Given the description of an element on the screen output the (x, y) to click on. 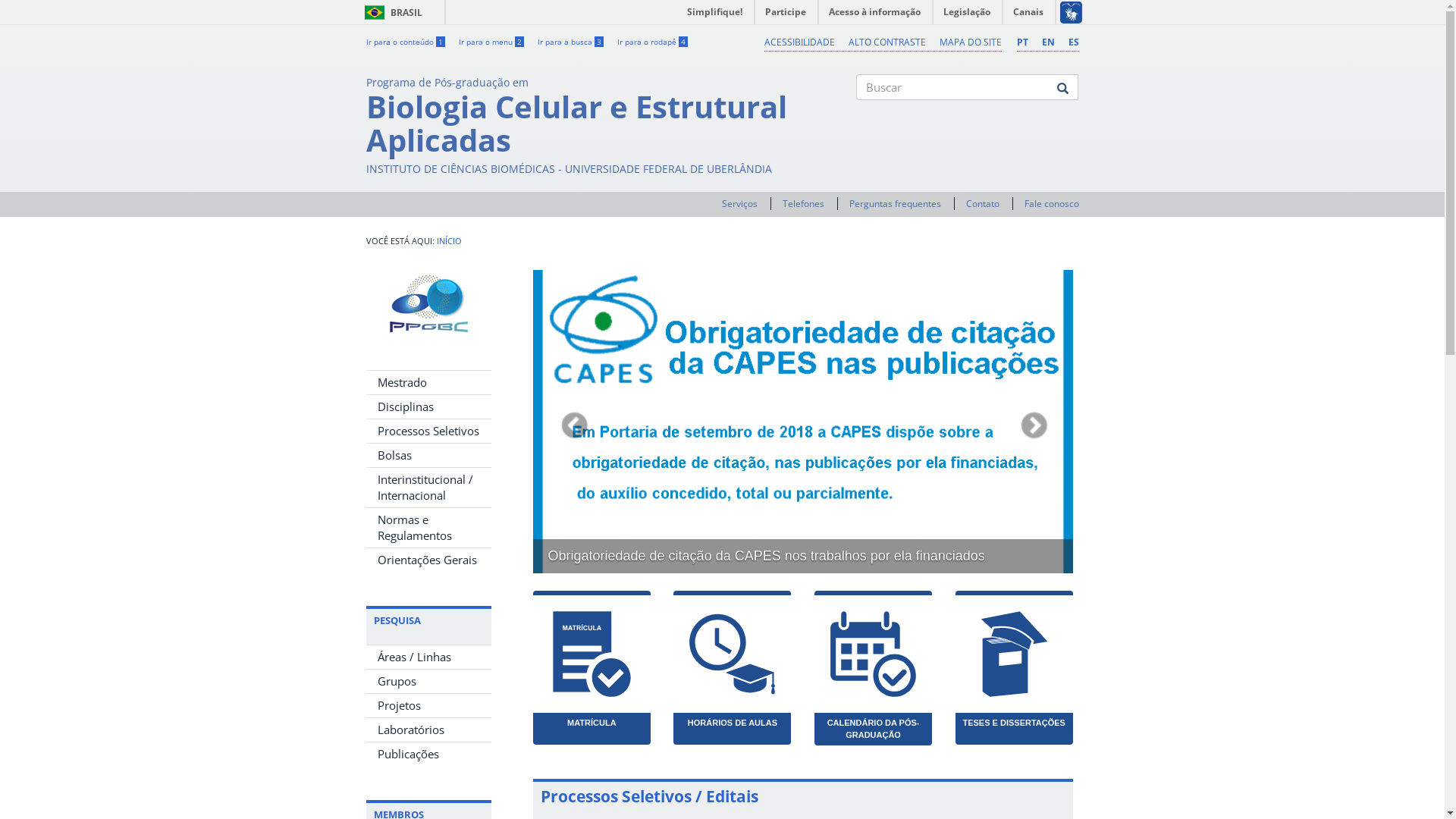
ES Element type: text (1072, 41)
Buscar Element type: text (856, 112)
Bolsas Element type: text (427, 455)
Ir para a busca 3 Element type: text (569, 41)
Contato Element type: text (982, 203)
Interinstitucional / Internacional Element type: text (427, 487)
Telefones Element type: text (803, 203)
PT Element type: text (1021, 41)
Perguntas frequentes Element type: text (895, 203)
Previous Element type: text (572, 421)
Projetos Element type: text (427, 705)
Disciplinas Element type: text (427, 406)
EN Element type: text (1047, 41)
ALTO CONTRASTE Element type: text (886, 41)
Normas e Regulamentos Element type: text (427, 527)
MAPA DO SITE Element type: text (969, 41)
Next Element type: text (1032, 421)
Grupos Element type: text (427, 681)
Fale conosco Element type: text (1050, 203)
Mestrado Element type: text (427, 382)
ACESSIBILIDADE Element type: text (799, 41)
Ir para o menu 2 Element type: text (490, 41)
BRASIL Element type: text (373, 12)
Processos Seletivos Element type: text (427, 430)
